Given the description of an element on the screen output the (x, y) to click on. 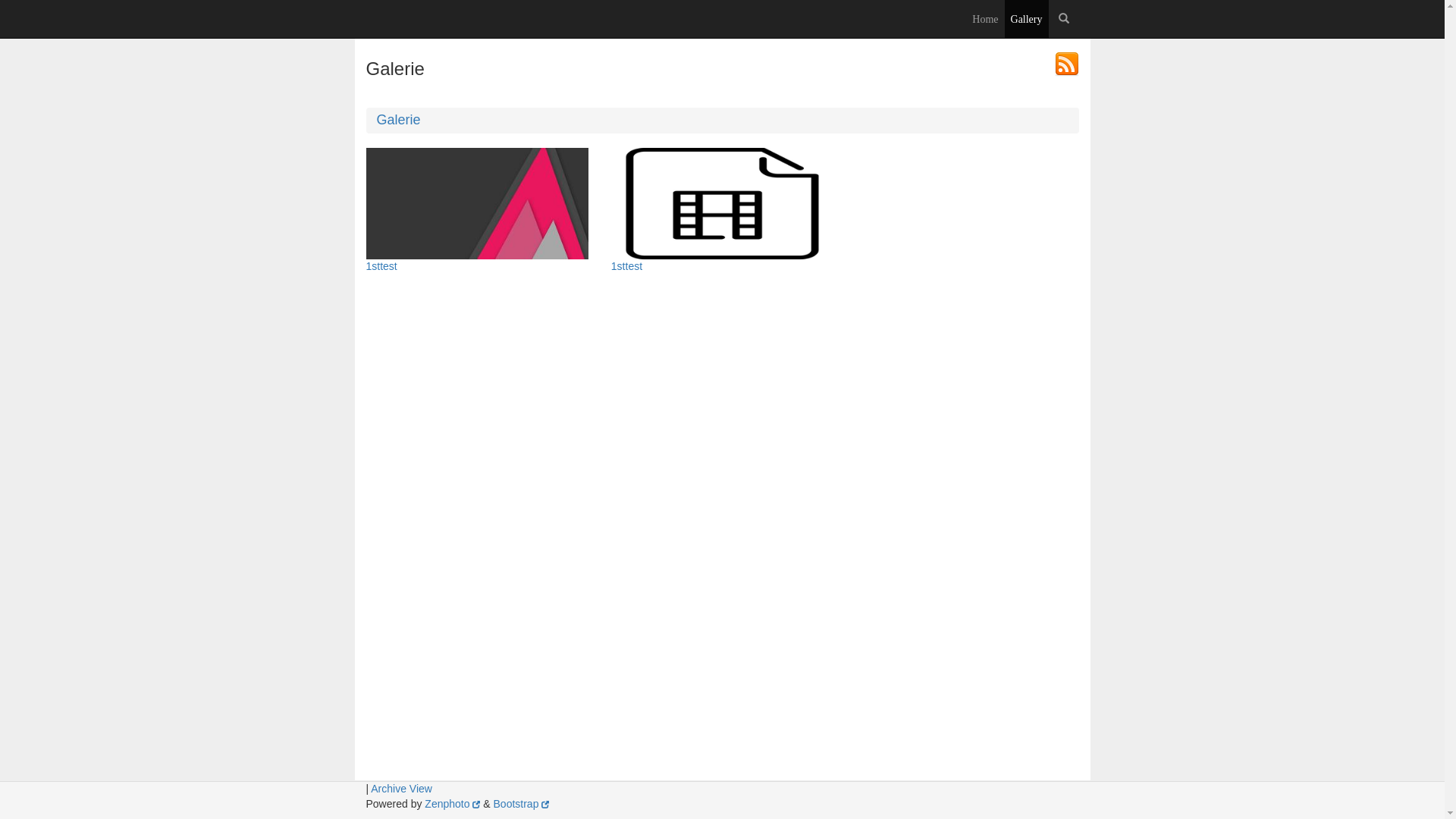
Archive View Element type: text (401, 788)
Home Element type: text (985, 18)
1sttest Element type: text (476, 266)
1sttest Element type: text (722, 266)
Zenphoto  Element type: text (452, 803)
1sttest Element type: hover (476, 203)
Gallery Element type: text (1026, 18)
Search Element type: hover (1063, 18)
1sttest Element type: hover (722, 203)
Home Element type: hover (365, 18)
Bootstrap  Element type: text (521, 803)
Galerie Element type: text (398, 119)
